Given the description of an element on the screen output the (x, y) to click on. 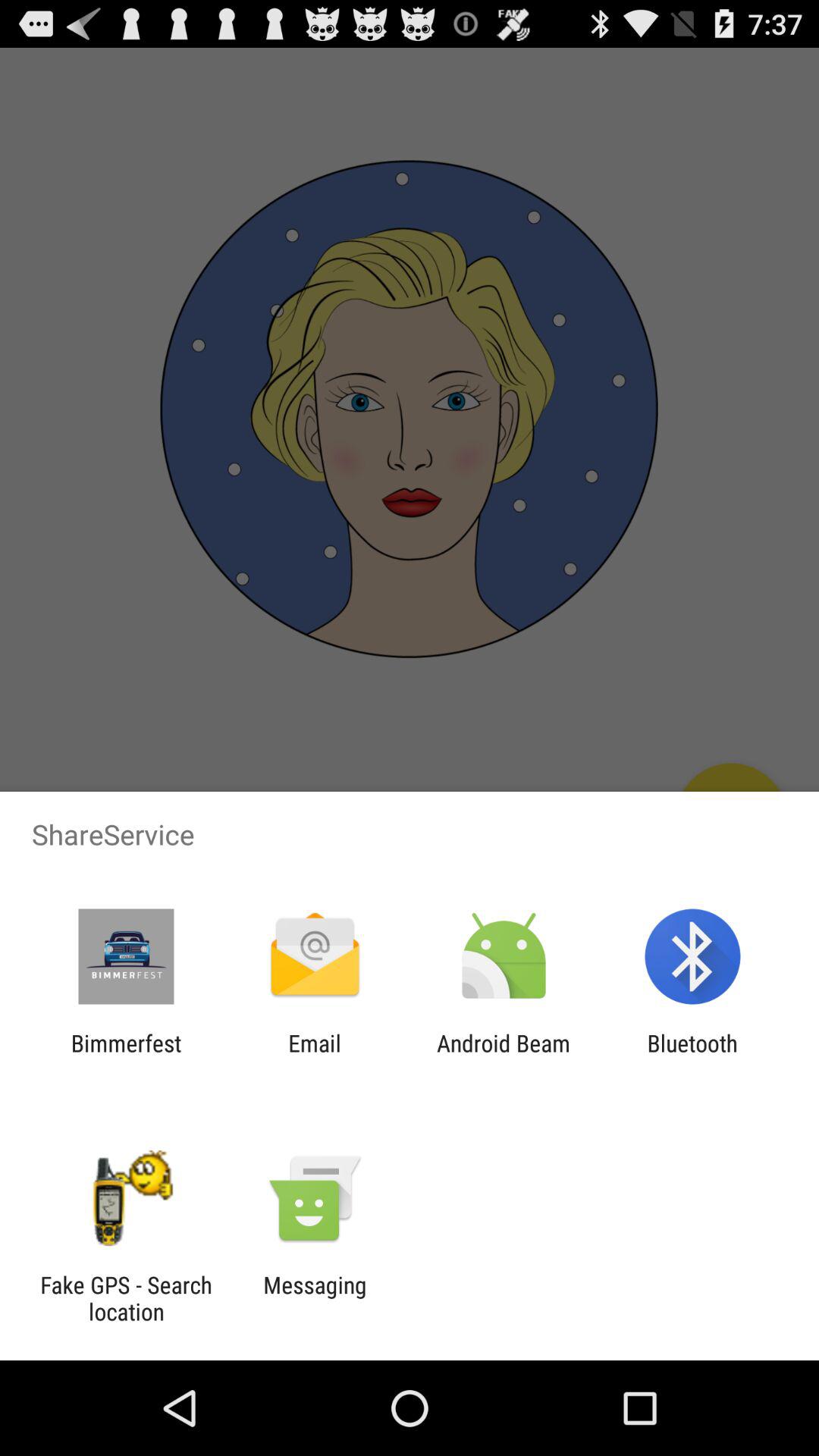
click the messaging item (314, 1298)
